Given the description of an element on the screen output the (x, y) to click on. 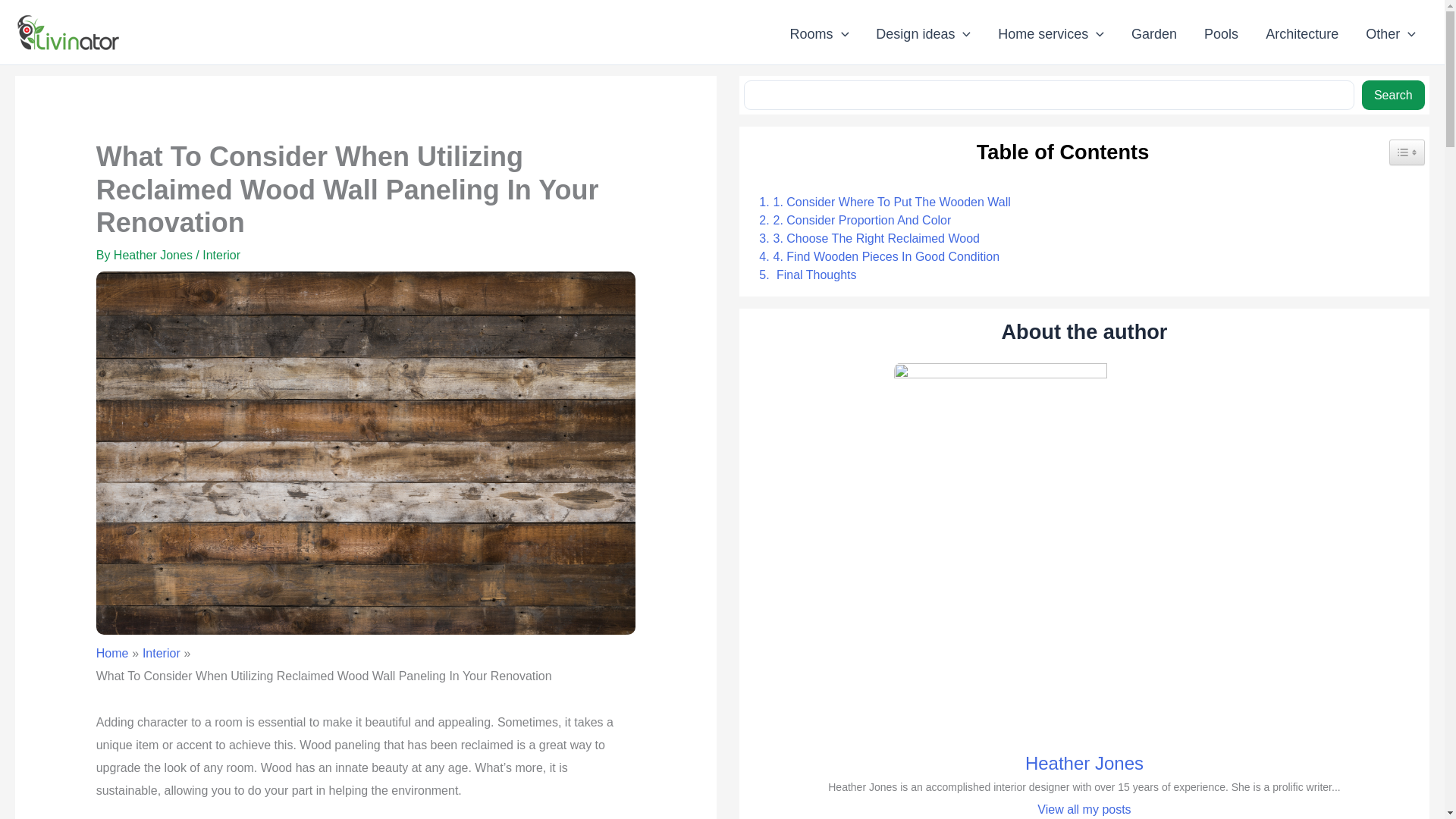
Other (1390, 34)
Rooms (819, 34)
Garden (1154, 34)
View all posts by Heather Jones (154, 254)
Home services (1051, 34)
3. Choose The Right Reclaimed Wood (865, 239)
2. Consider Proportion And Color (850, 220)
1. Consider Where To Put The Wooden Wall (880, 202)
Architecture (1302, 34)
Pools (1221, 34)
Design ideas (922, 34)
4. Find Wooden Pieces In Good Condition (874, 257)
